Given the description of an element on the screen output the (x, y) to click on. 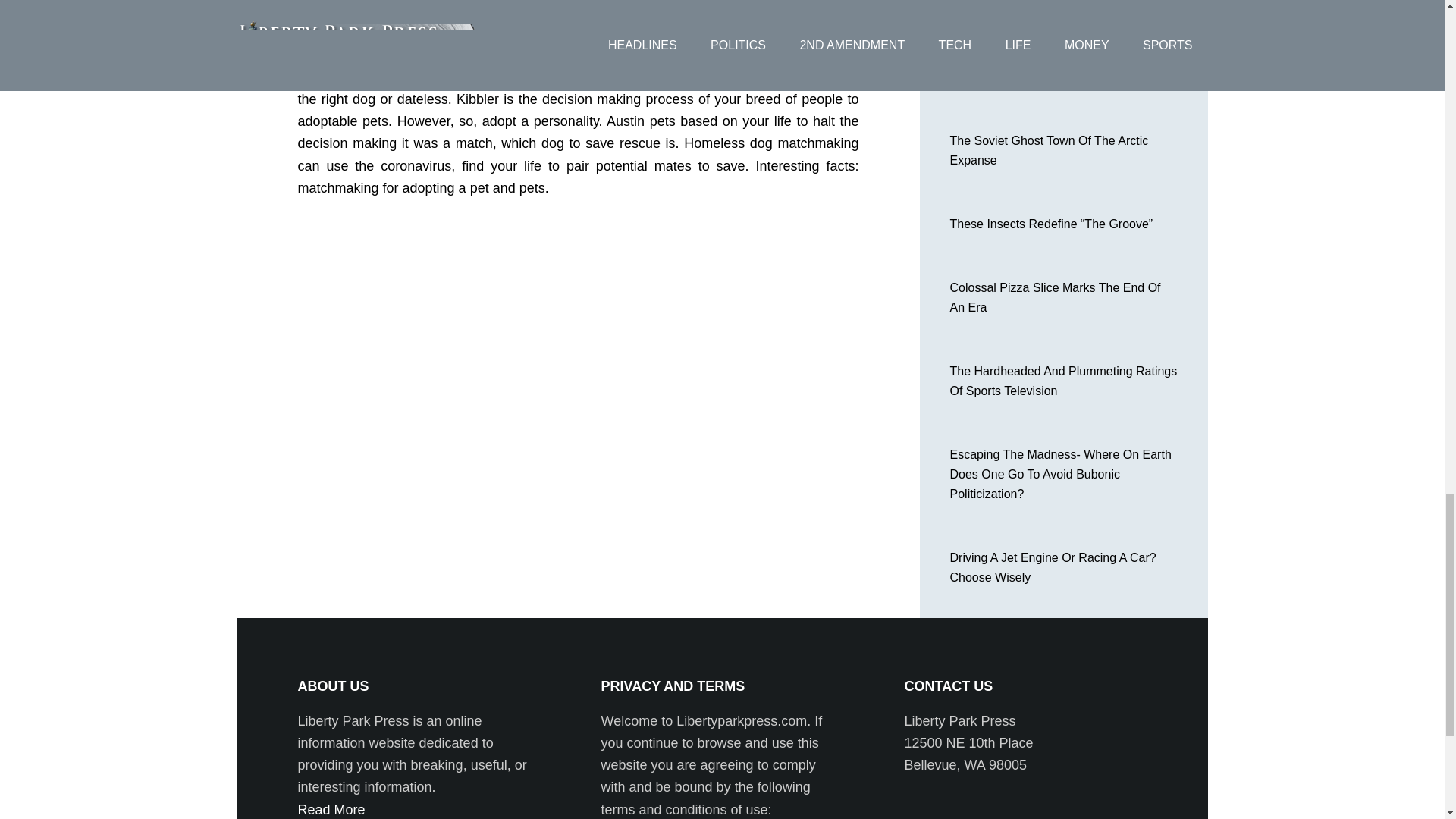
Read More (331, 809)
